Given the description of an element on the screen output the (x, y) to click on. 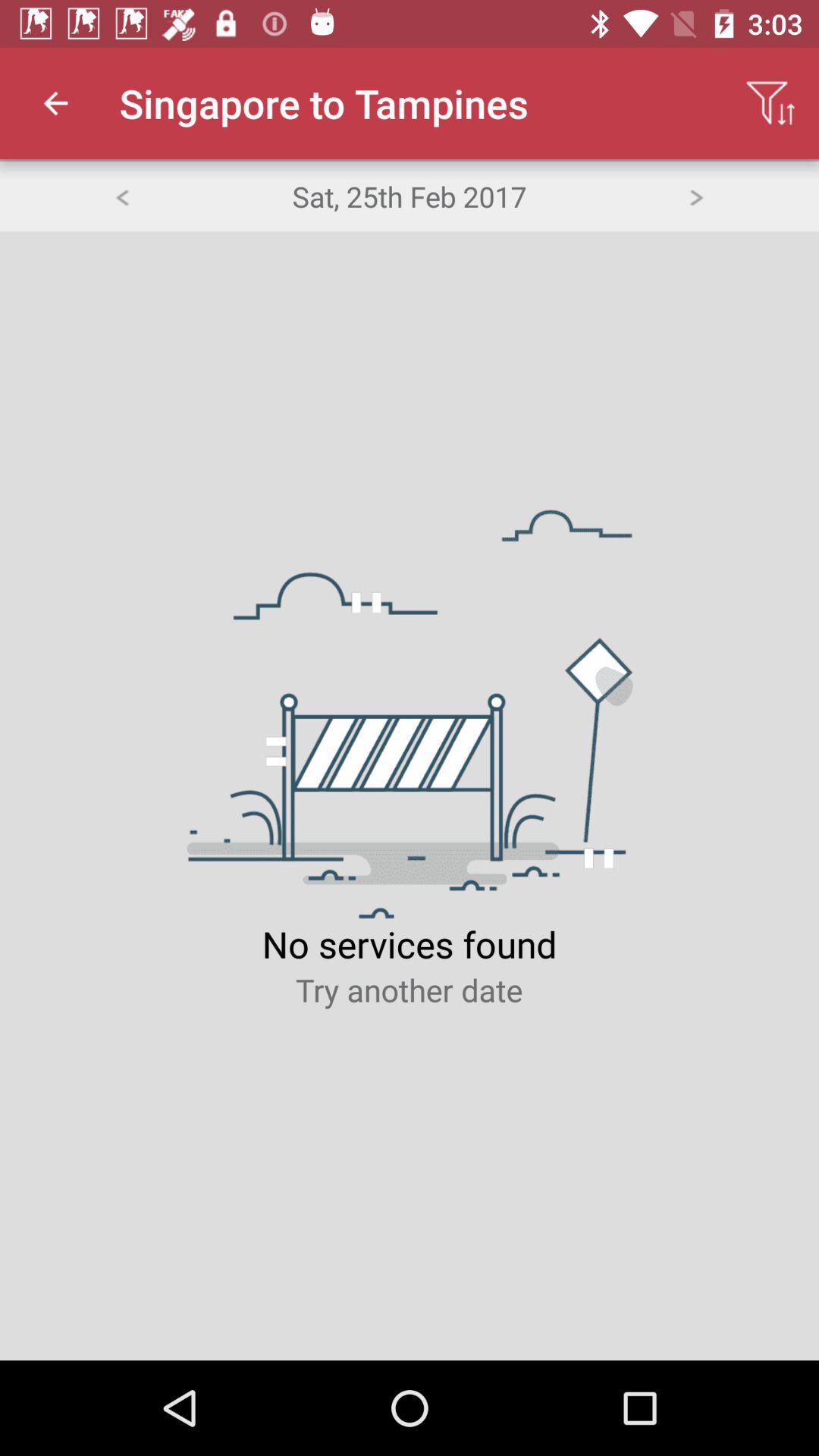
select app next to the singapore to tampines (55, 103)
